Given the description of an element on the screen output the (x, y) to click on. 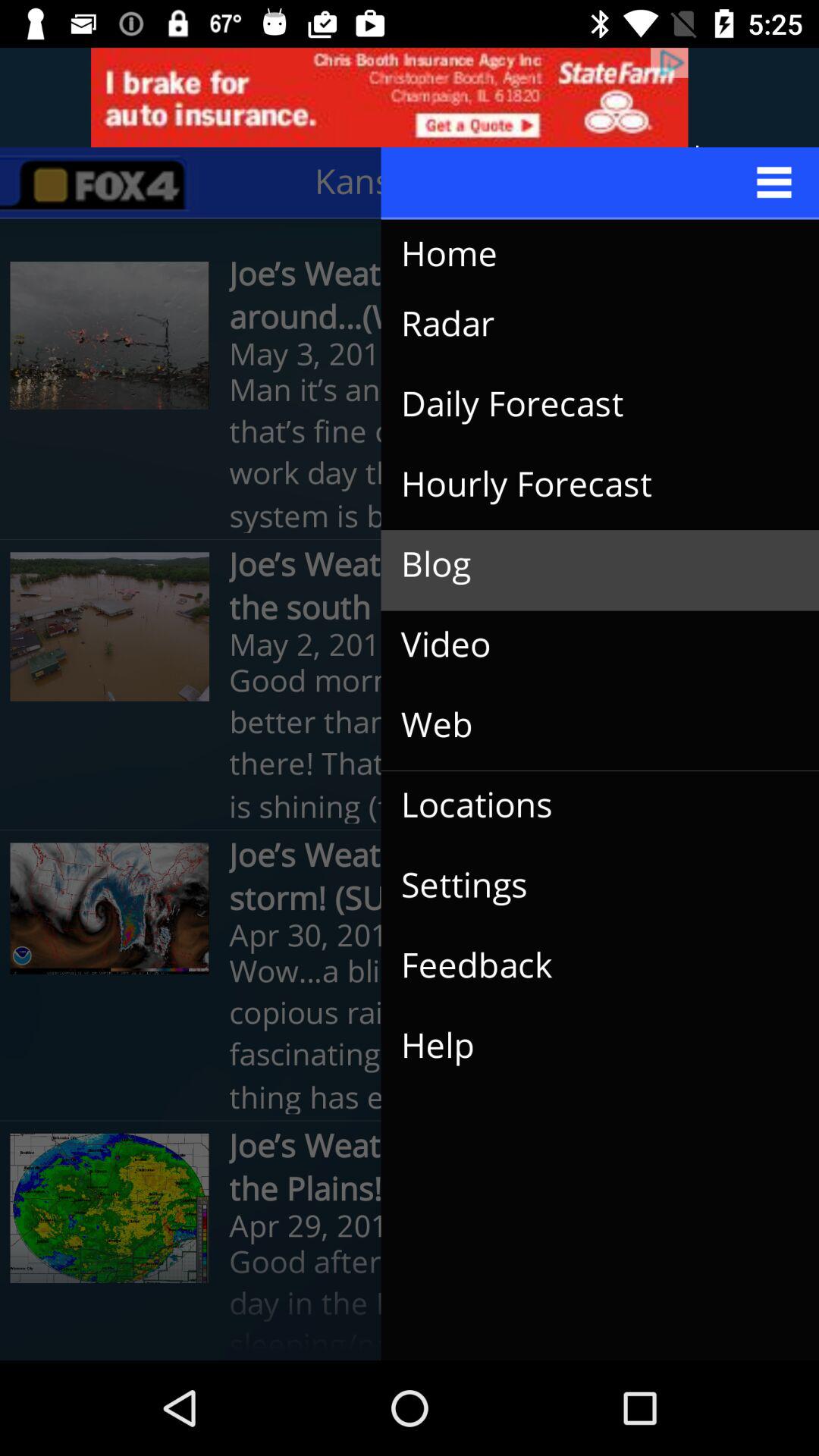
press help icon (587, 1046)
